Given the description of an element on the screen output the (x, y) to click on. 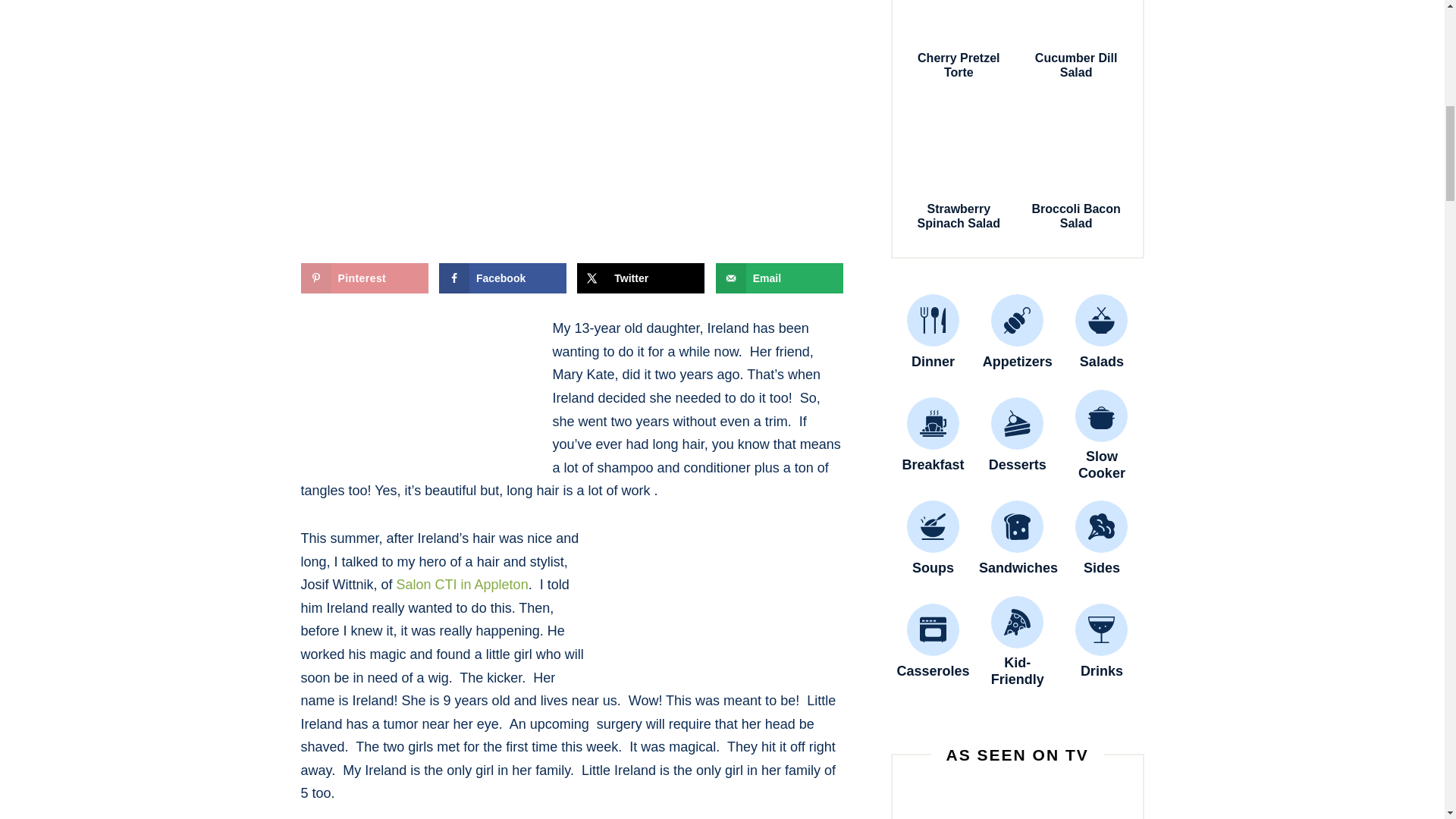
Share on Facebook (502, 277)
A-Haircut-Ill-Never-Forget-2 (729, 602)
Send over email (779, 277)
A Haircut- Ill Never Forget (413, 392)
Share on X (640, 277)
Save to Pinterest (363, 277)
